Given the description of an element on the screen output the (x, y) to click on. 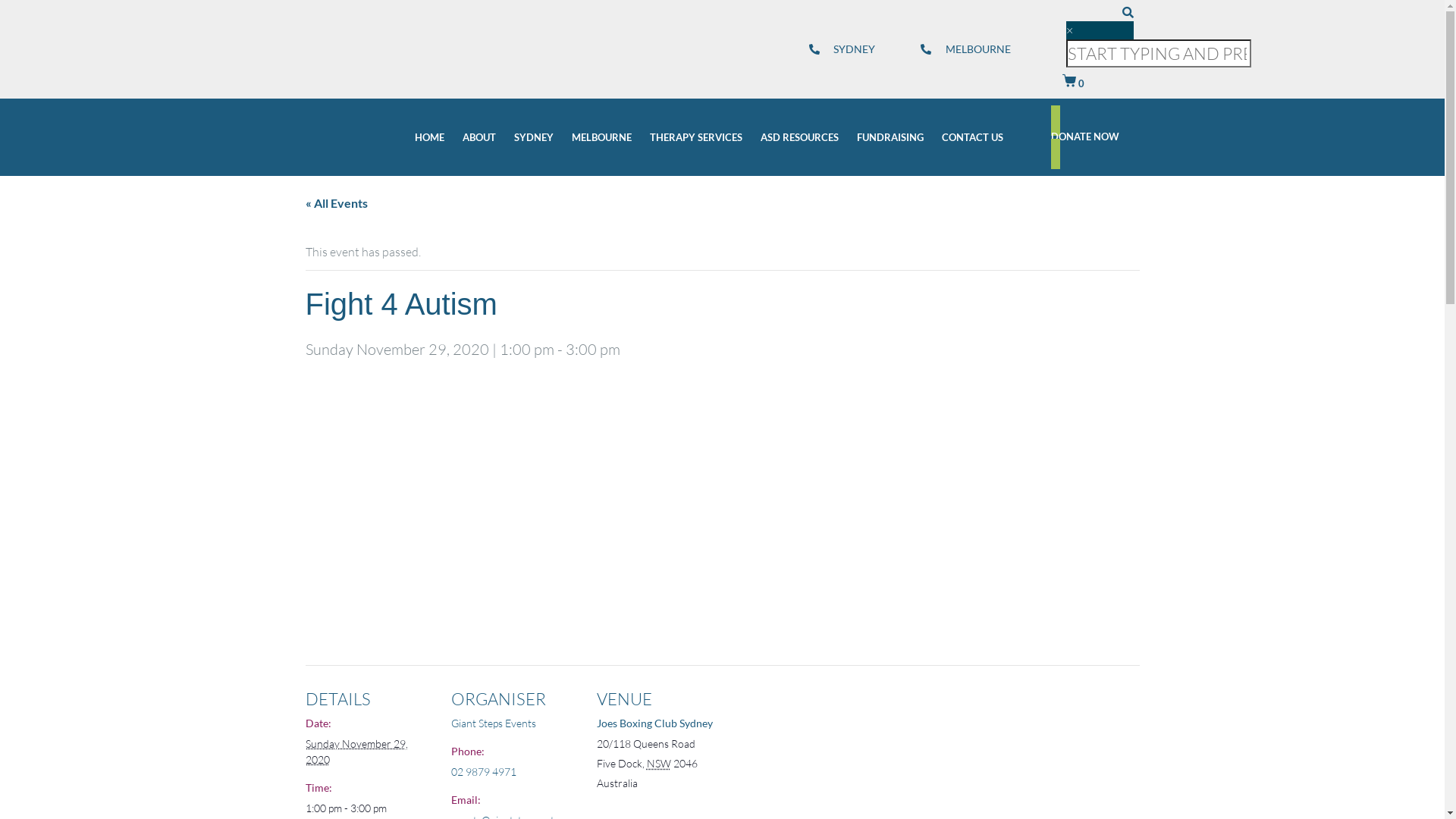
DONATE NOW Element type: text (1102, 137)
MELBOURNE Element type: text (601, 137)
0 Element type: text (1073, 82)
THERAPY SERVICES Element type: text (695, 137)
FUNDRAISING Element type: text (889, 137)
ABOUT Element type: text (479, 137)
HOME Element type: text (429, 137)
SYDNEY Element type: text (841, 48)
02 9879 4971 Element type: text (482, 771)
ASD RESOURCES Element type: text (799, 137)
Joes Boxing Club Sydney Element type: text (654, 722)
Giant Steps Events Element type: text (492, 722)
SYDNEY Element type: text (533, 137)
MELBOURNE Element type: text (965, 48)
CONTACT US Element type: text (972, 137)
